Given the description of an element on the screen output the (x, y) to click on. 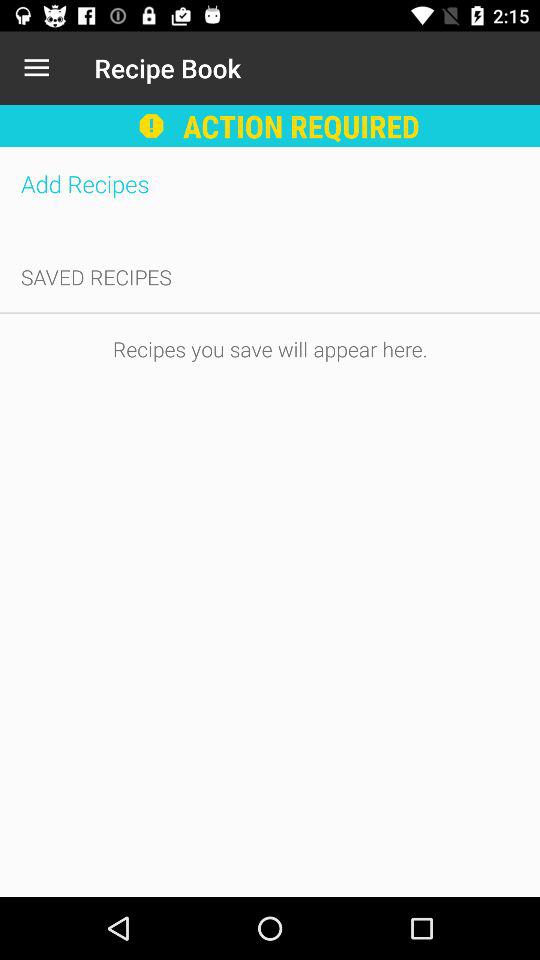
launch add recipes (270, 183)
